Given the description of an element on the screen output the (x, y) to click on. 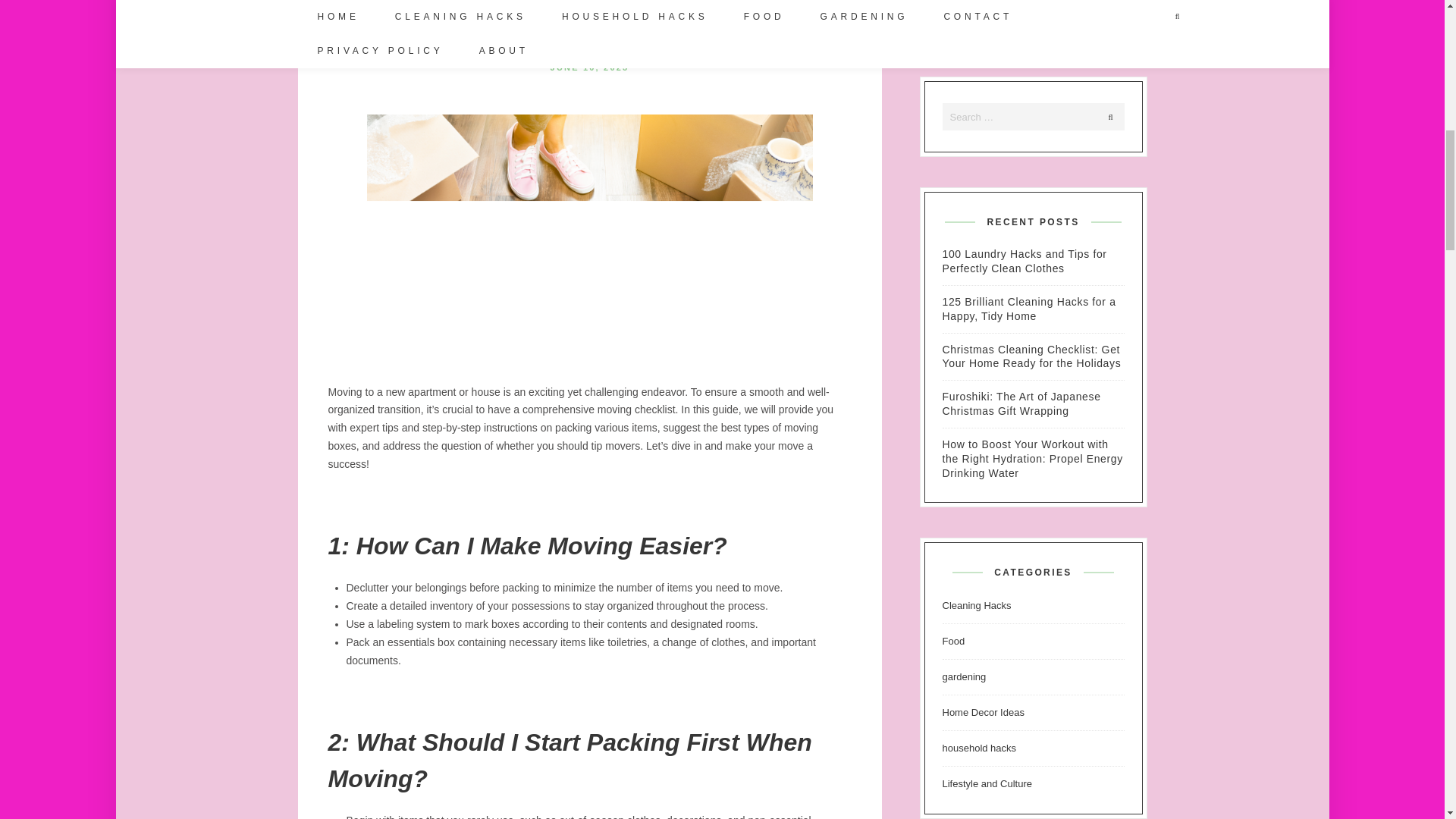
Food (952, 641)
100 Laundry Hacks and Tips for Perfectly Clean Clothes (1033, 261)
Lifestyle and Culture (987, 783)
Furoshiki: The Art of Japanese Christmas Gift Wrapping (1033, 403)
gardening (963, 676)
125 Brilliant Cleaning Hacks for a Happy, Tidy Home (1033, 308)
Search (1110, 116)
household hacks (979, 747)
Cleaning Hacks (976, 604)
Home Decor Ideas (982, 712)
